Given the description of an element on the screen output the (x, y) to click on. 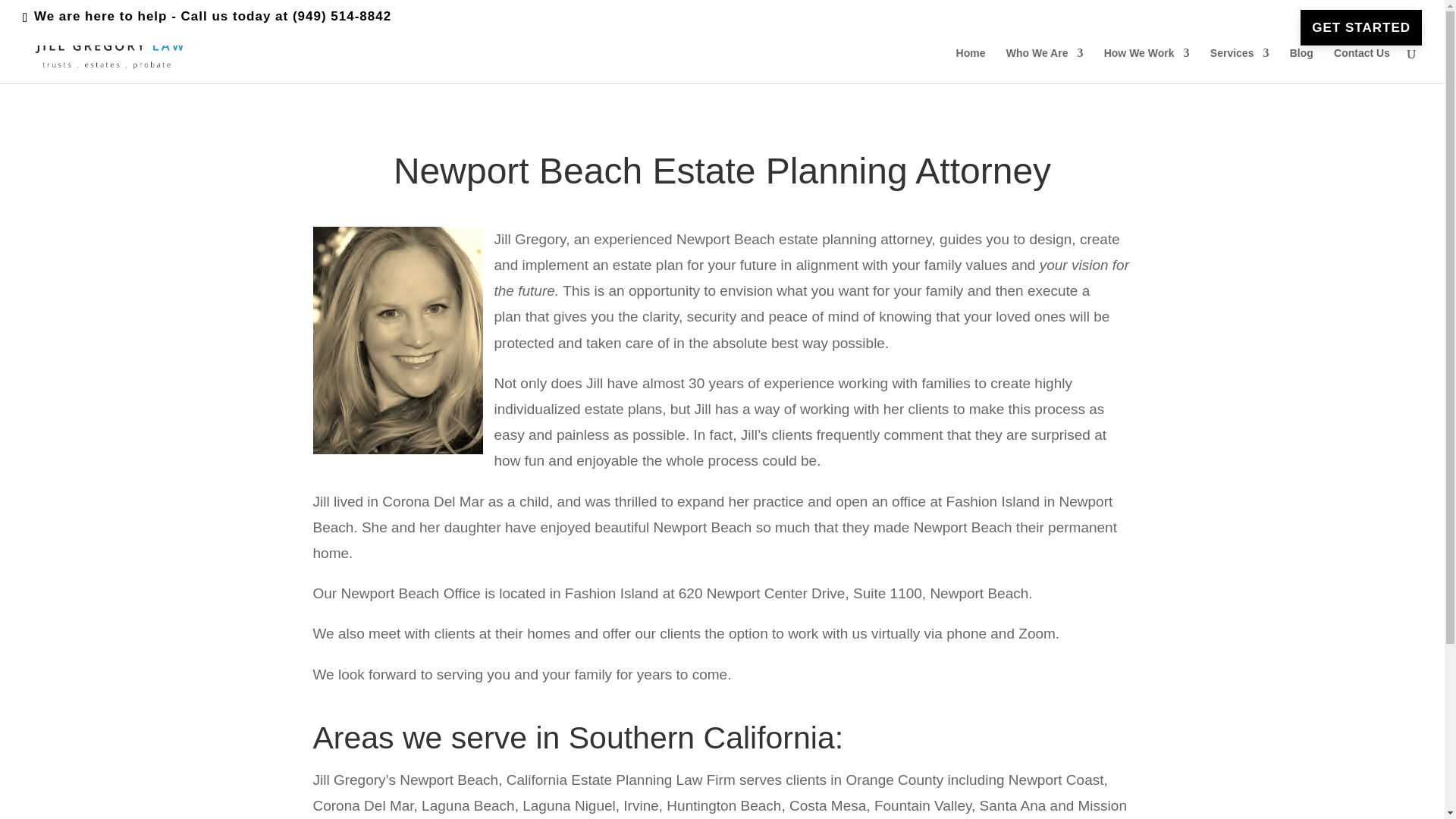
GET STARTED (1361, 27)
Who We Are (1044, 65)
How We Work (1146, 65)
Services (1239, 65)
Contact Us (1361, 65)
